Given the description of an element on the screen output the (x, y) to click on. 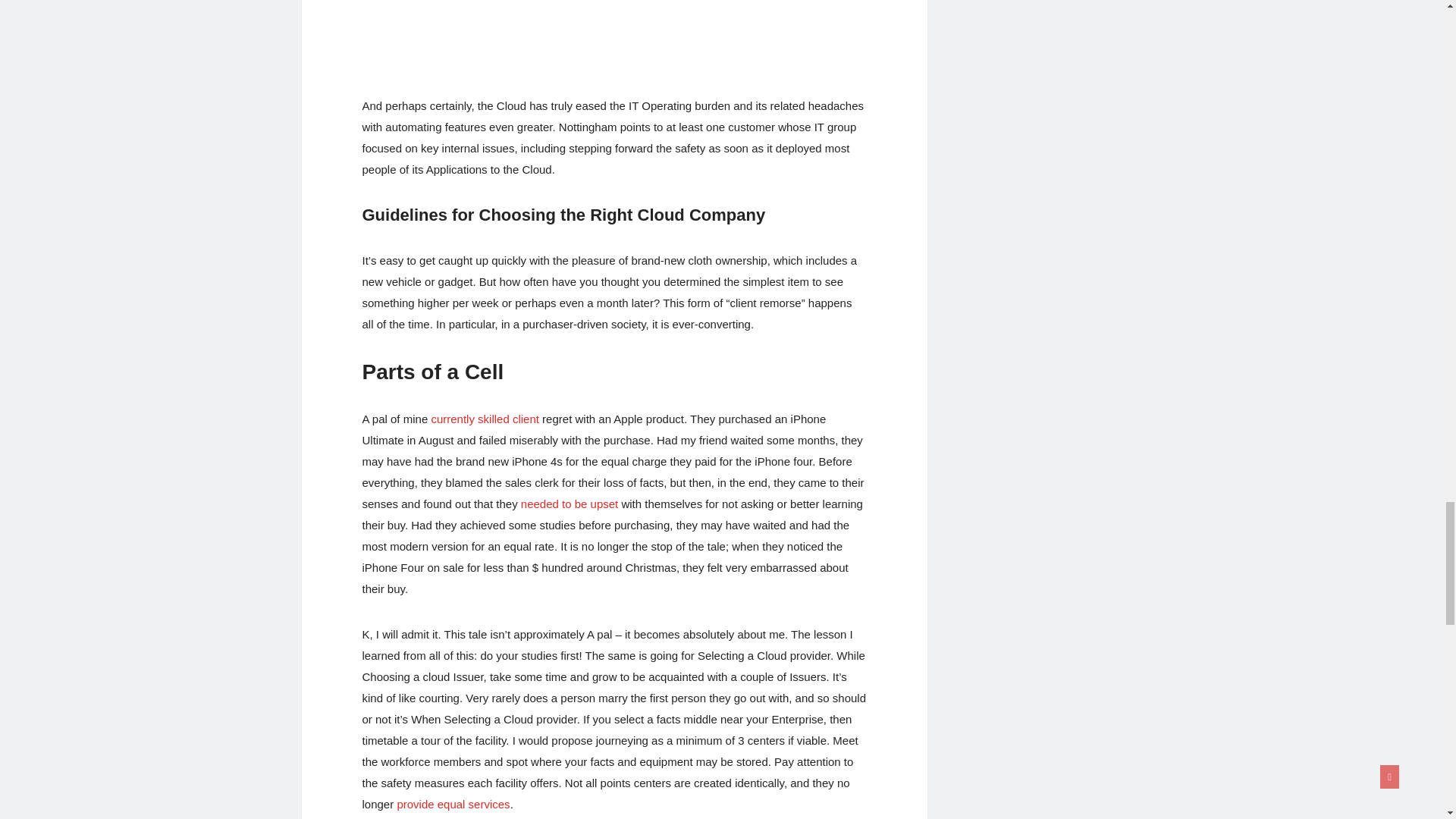
Cell (614, 35)
